Given the description of an element on the screen output the (x, y) to click on. 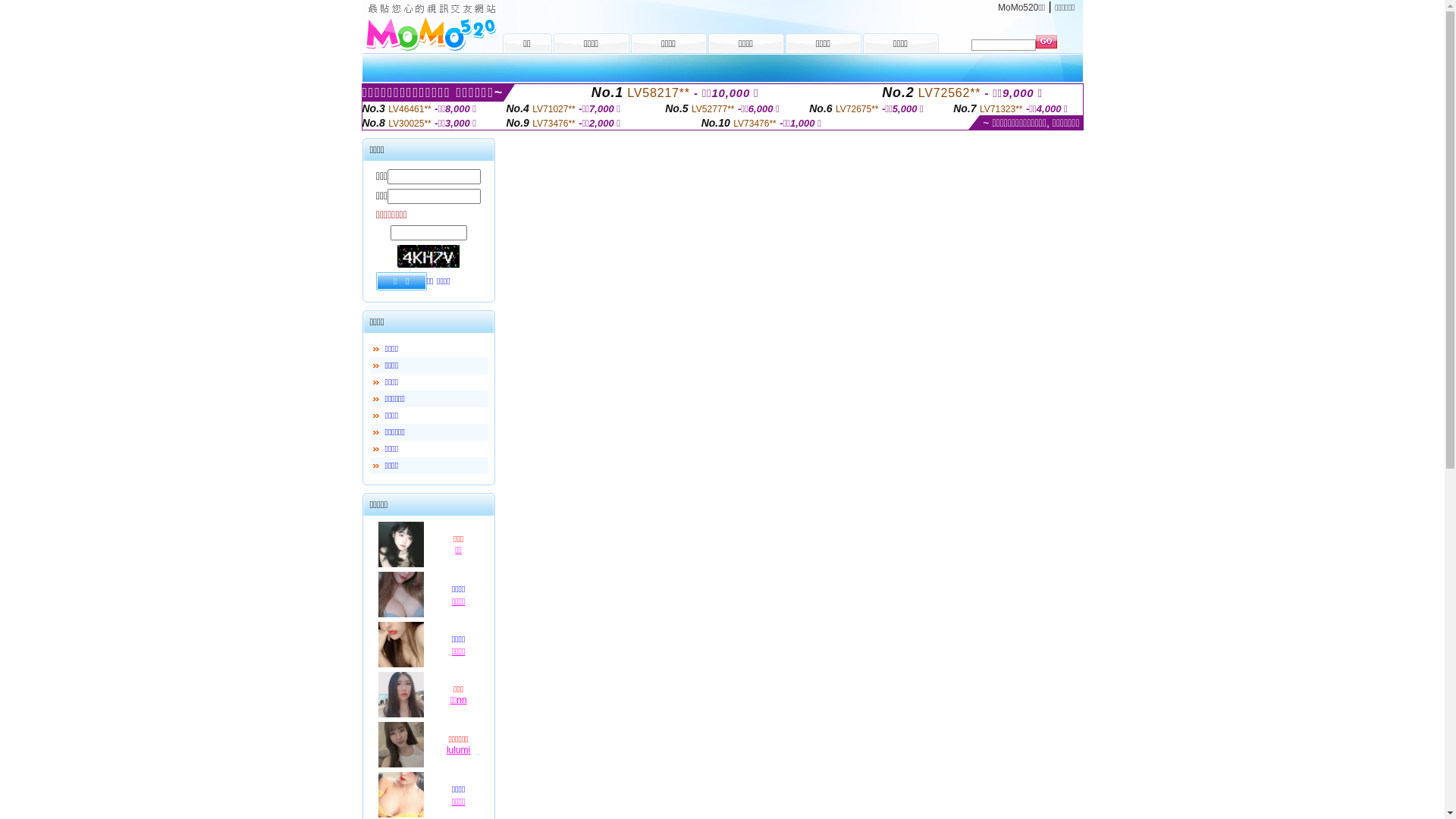
lulumi Element type: text (458, 749)
